Given the description of an element on the screen output the (x, y) to click on. 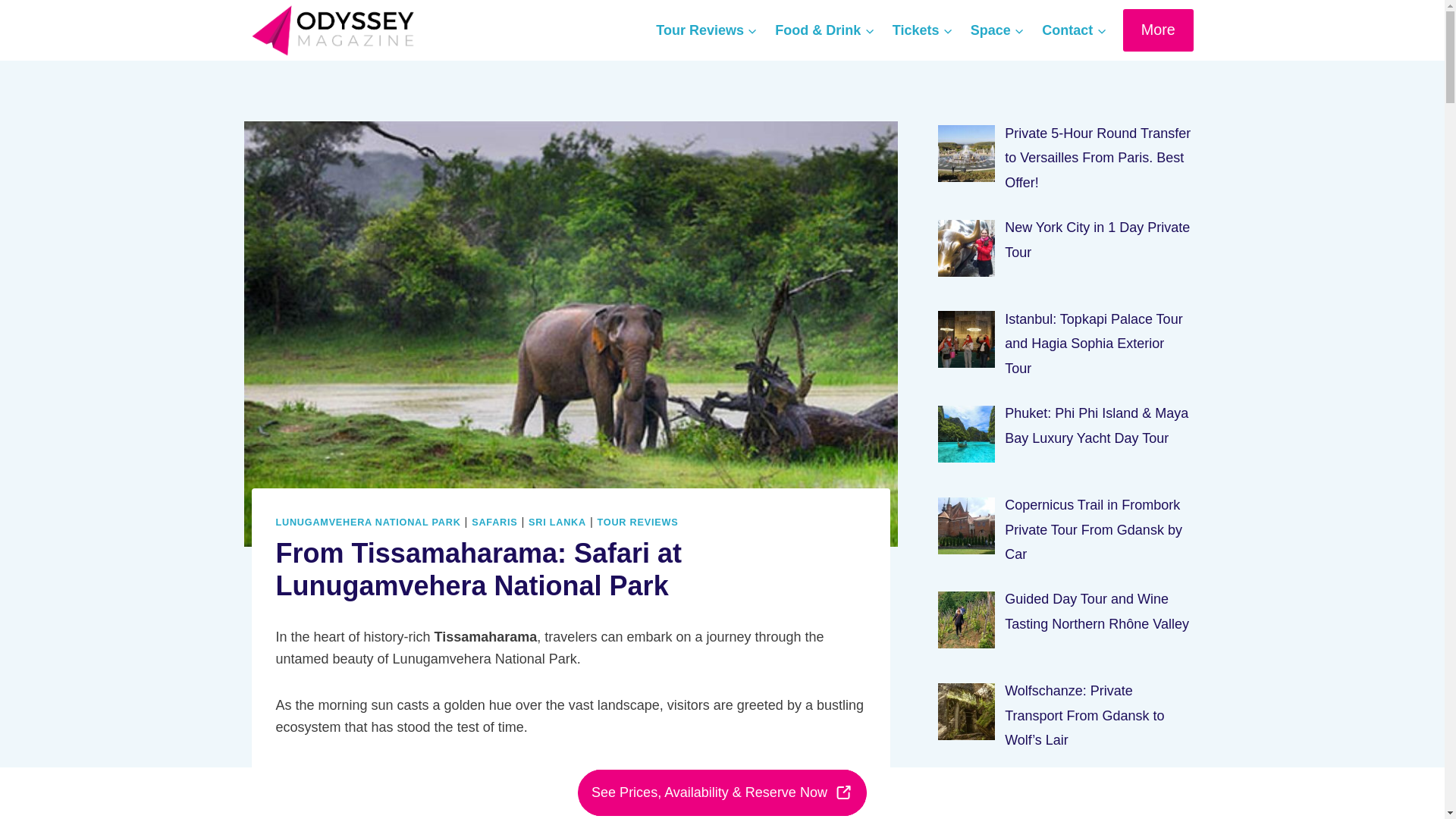
Tickets (921, 30)
SAFARIS (493, 521)
SRI LANKA (557, 521)
LUNUGAMVEHERA NATIONAL PARK (368, 521)
Contact (1074, 30)
Tour Reviews (707, 30)
TOUR REVIEWS (637, 521)
More (1157, 29)
Space (996, 30)
